Given the description of an element on the screen output the (x, y) to click on. 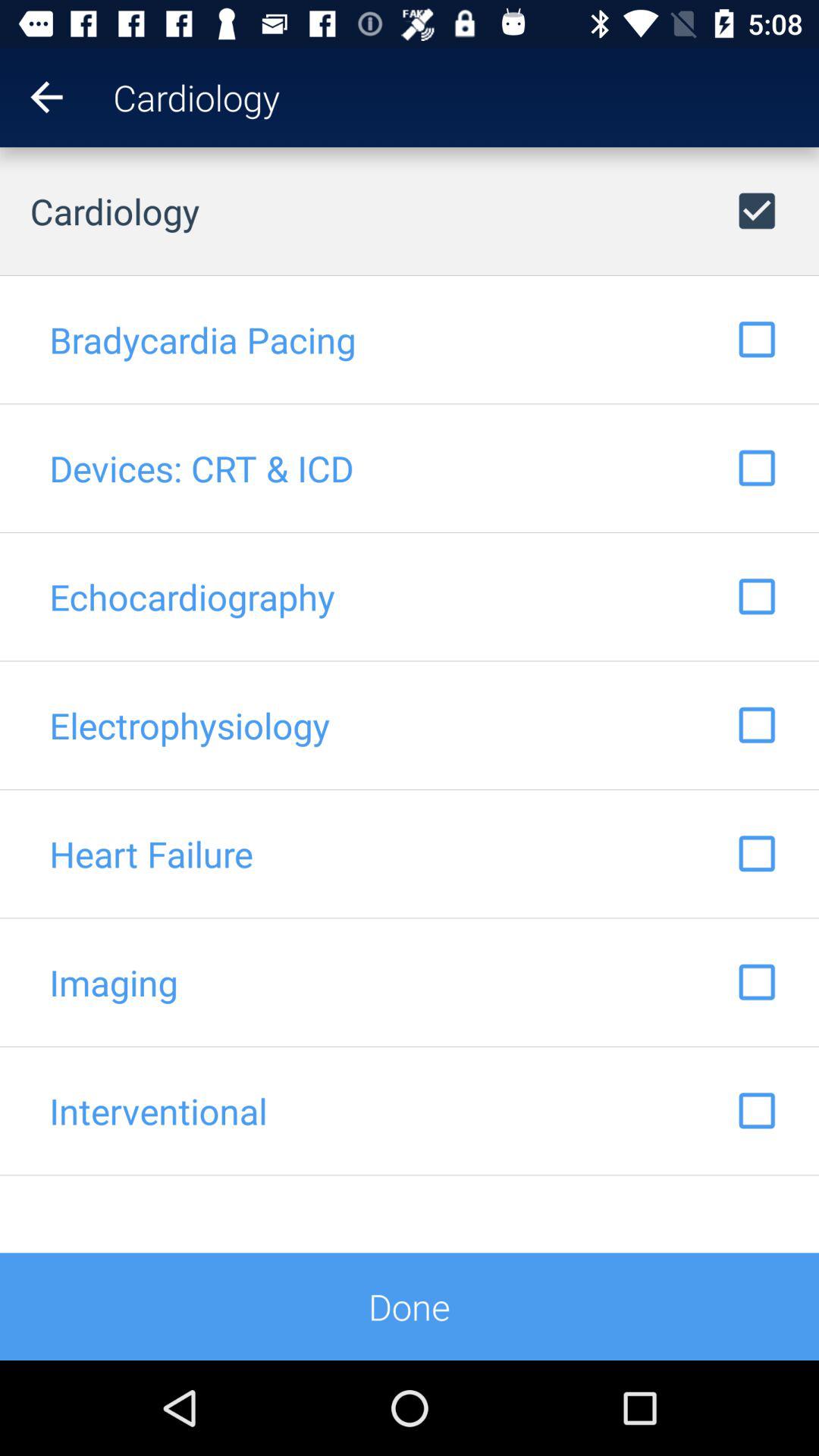
flip until the done item (409, 1306)
